Given the description of an element on the screen output the (x, y) to click on. 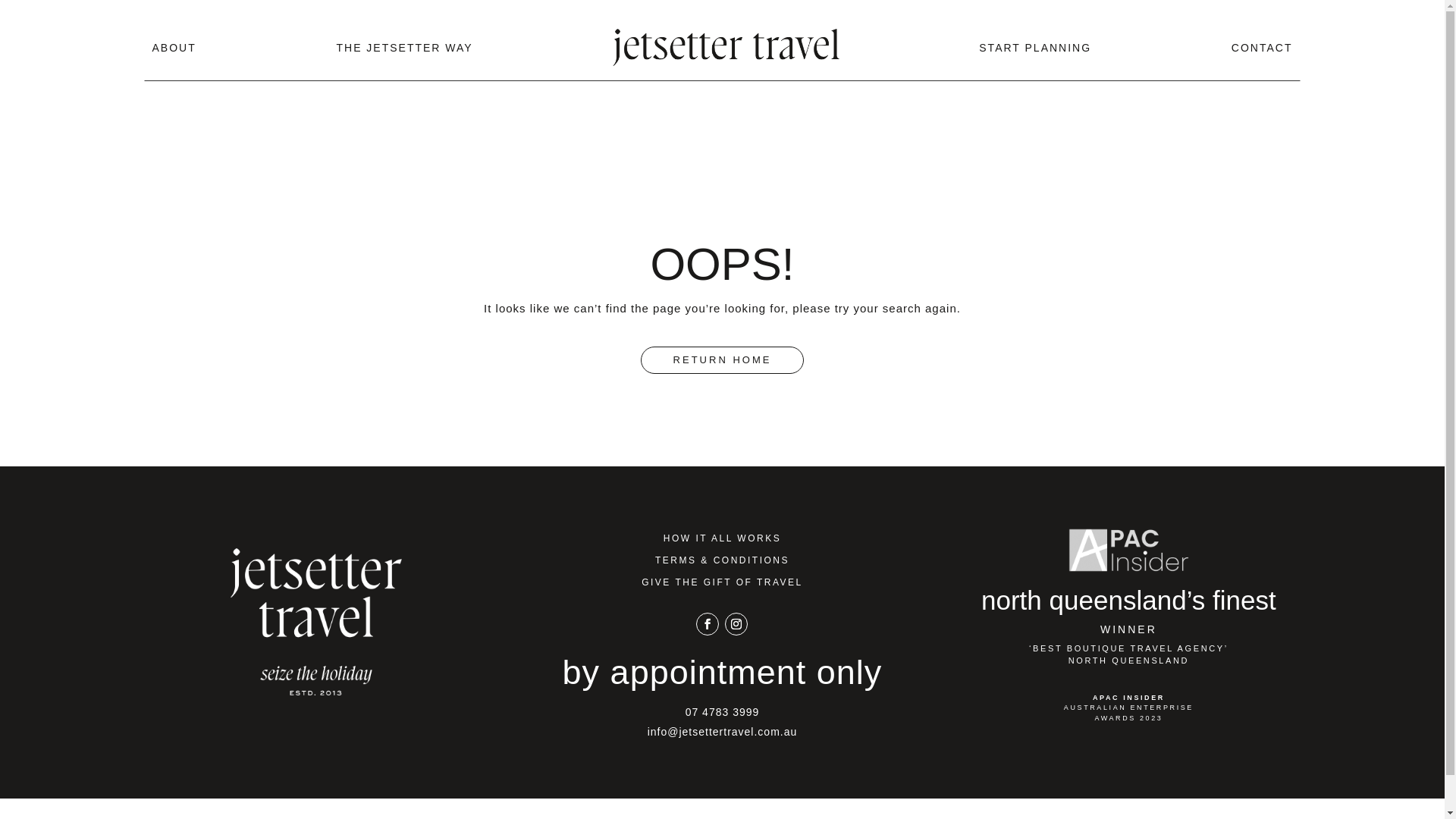
THE JETSETTER WAY Element type: text (404, 46)
CONTACT Element type: text (1261, 46)
GIVE THE GIFT OF TRAVEL Element type: text (722, 582)
HOW IT ALL WORKS Element type: text (722, 538)
RETURN HOME Element type: text (722, 359)
ABOUT Element type: text (173, 46)
Follow on Instagram Element type: hover (735, 623)
TERMS & CONDITIONS Element type: text (722, 560)
Follow on Facebook Element type: hover (707, 623)
apac-logo-light-3 Element type: hover (1128, 549)
START PLANNING Element type: text (1034, 46)
Jetsetter Travel_Stacked_White Element type: hover (315, 621)
